Given the description of an element on the screen output the (x, y) to click on. 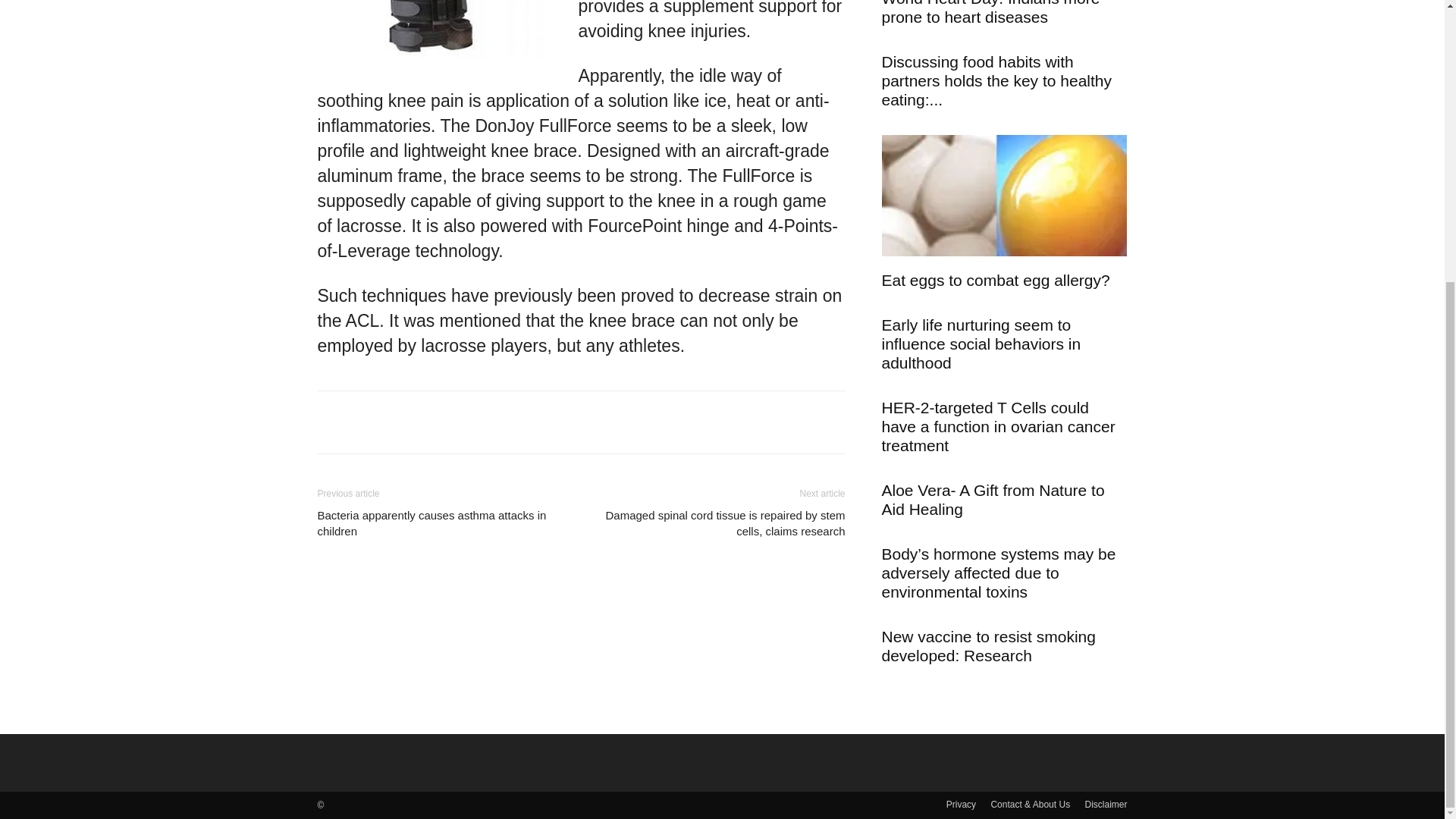
New vaccine to resist smoking developed: Research (987, 646)
Eat eggs to combat egg allergy? (994, 280)
Aloe Vera- A Gift from Nature to Aid Healing (991, 499)
World Heart Day: Indians more prone to heart diseases (989, 12)
Eat eggs to combat egg allergy? (1003, 198)
Bacteria apparently causes asthma attacks in children (439, 522)
